Given the description of an element on the screen output the (x, y) to click on. 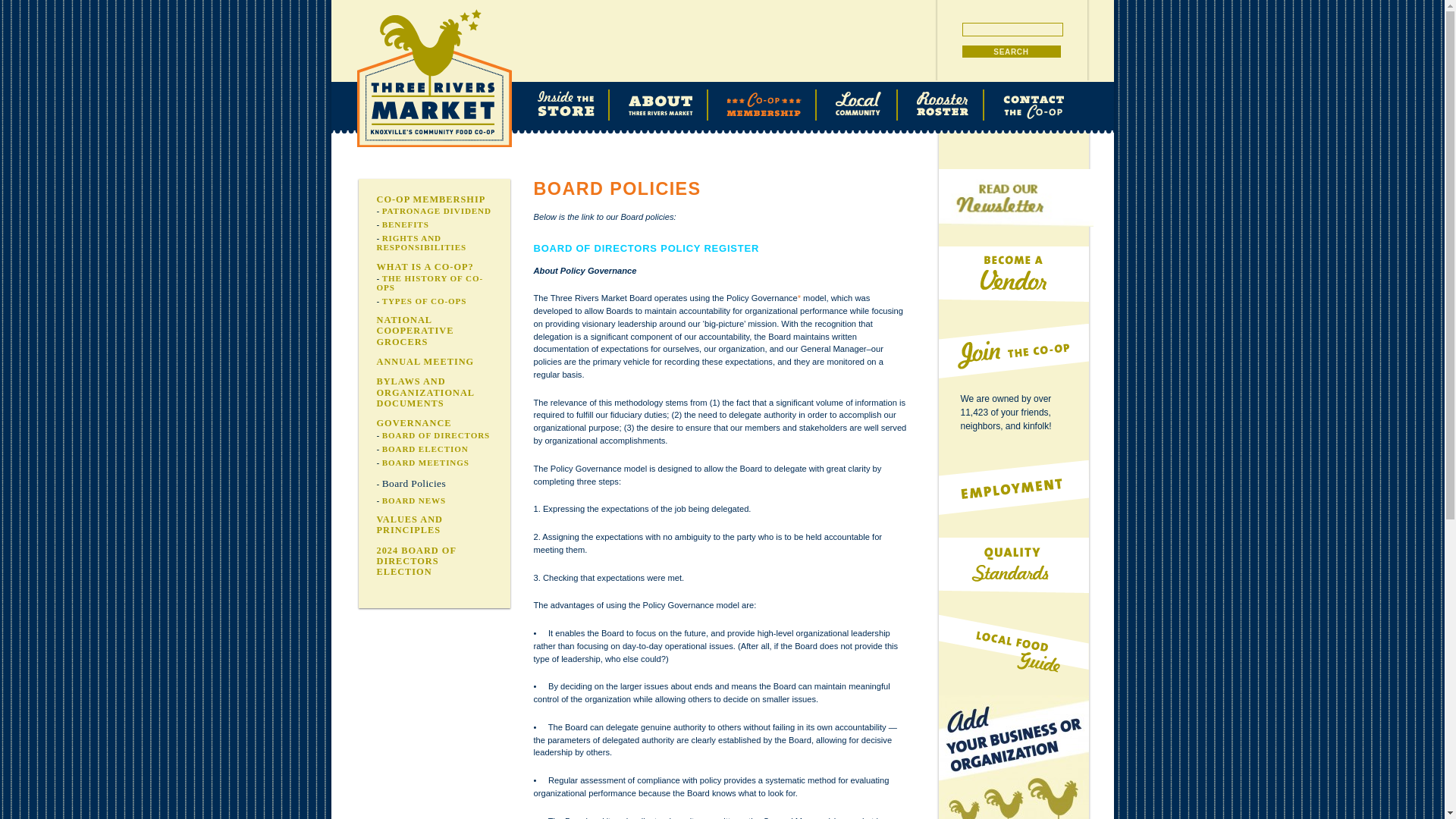
VALUES AND PRINCIPLES (408, 524)
PATRONAGE DIVIDEND (436, 210)
WHAT IS A CO-OP? (424, 266)
NATIONAL COOPERATIVE GROCERS (413, 330)
BOARD ELECTION (424, 448)
BYLAWS AND ORGANIZATIONAL DOCUMENTS (424, 391)
BOARD NEWS (413, 500)
GOVERNANCE (413, 422)
TYPES OF CO-OPS (424, 300)
THE HISTORY OF CO-OPS (429, 282)
BOARD OF DIRECTORS POLICY REGISTER (647, 247)
RIGHTS AND RESPONSIBILITIES (420, 242)
BOARD OF DIRECTORS (435, 434)
CO-OP MEMBERSHIP (429, 199)
Search (1009, 51)
